Given the description of an element on the screen output the (x, y) to click on. 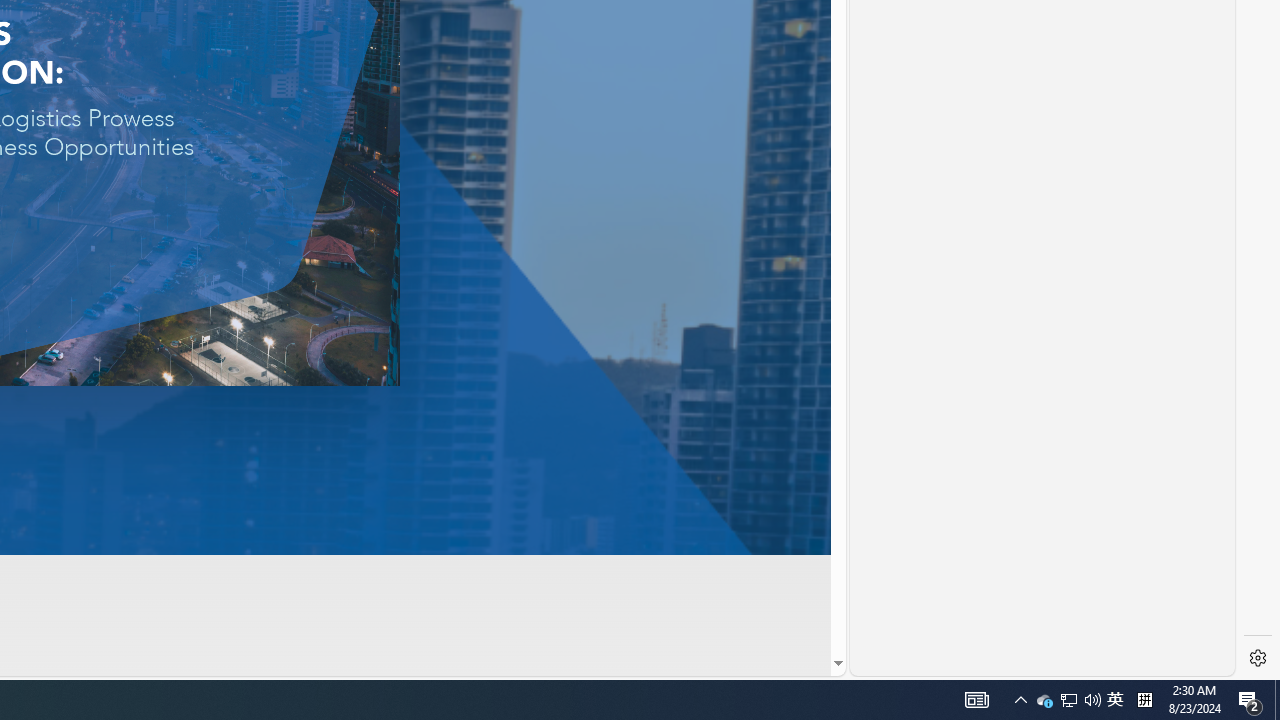
Class: slide_out_area_close (930, 13)
Settings (1258, 658)
